Given the description of an element on the screen output the (x, y) to click on. 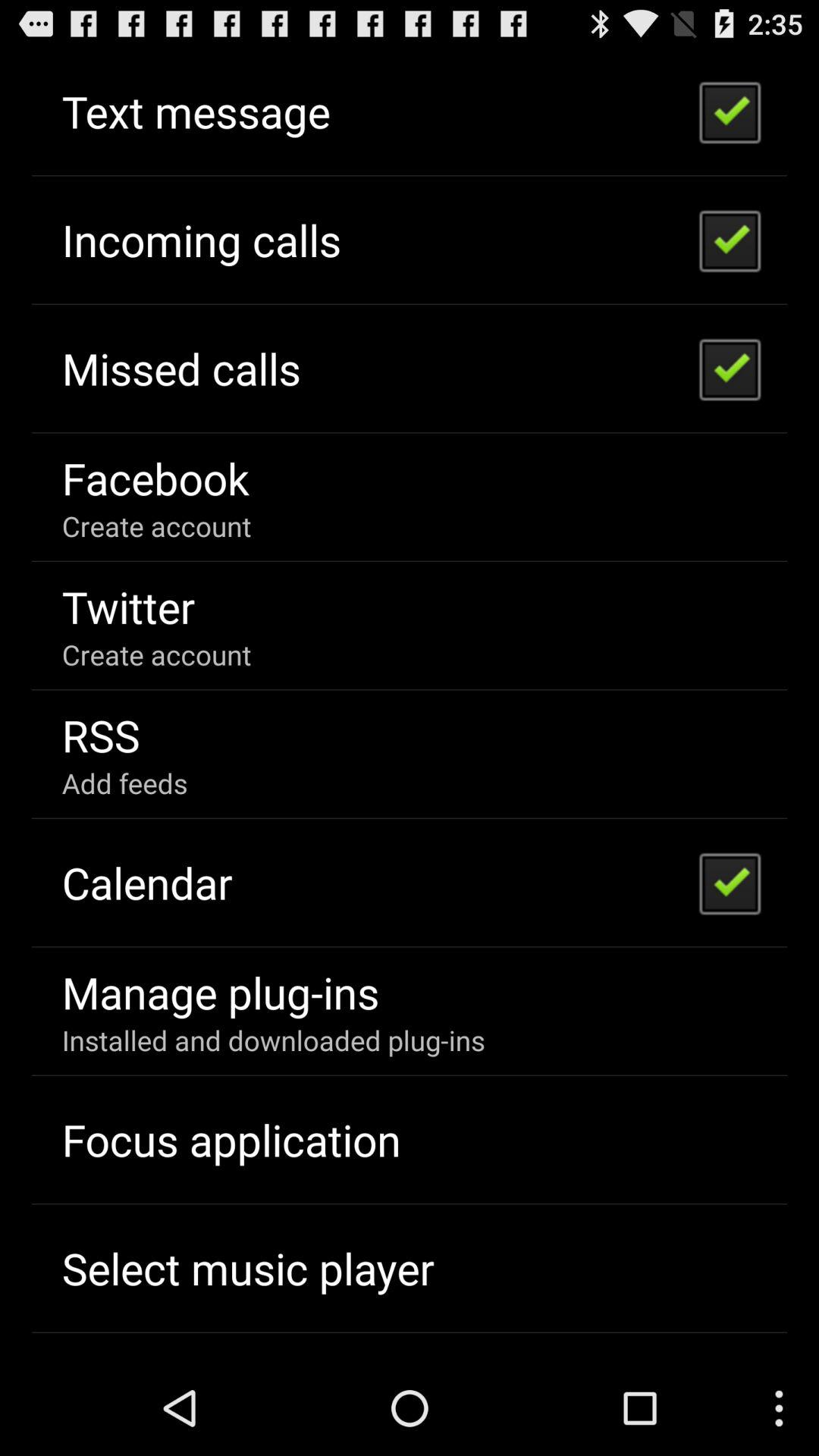
launch item above the manage plug-ins item (146, 882)
